Given the description of an element on the screen output the (x, y) to click on. 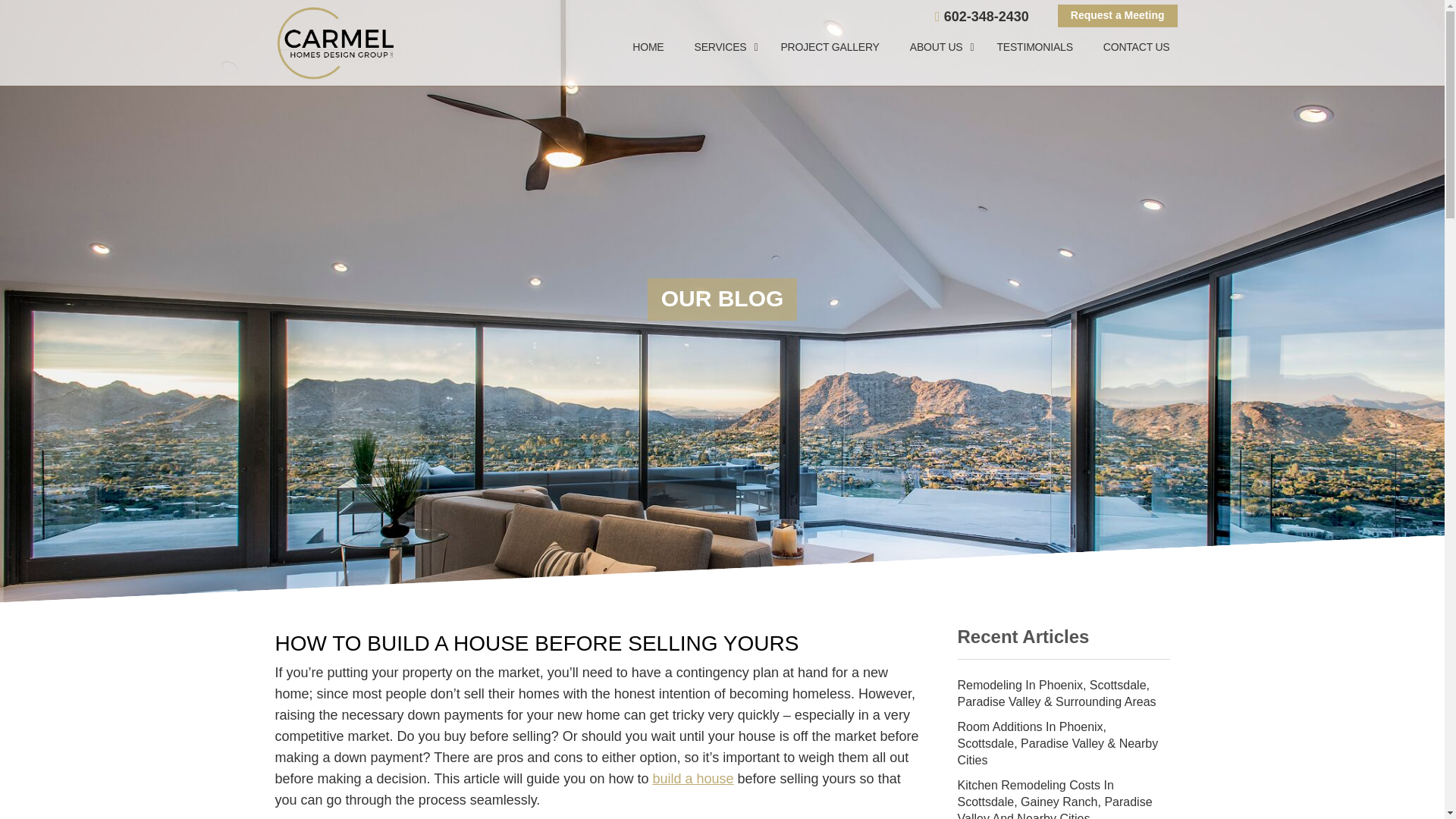
Request a Meeting (1117, 15)
TESTIMONIALS (1034, 46)
ABOUT US (938, 46)
PROJECT GALLERY (829, 46)
SERVICES (722, 46)
602-348-2430 (981, 16)
HOME (647, 46)
CONTACT US (1128, 46)
build a house (692, 778)
